Given the description of an element on the screen output the (x, y) to click on. 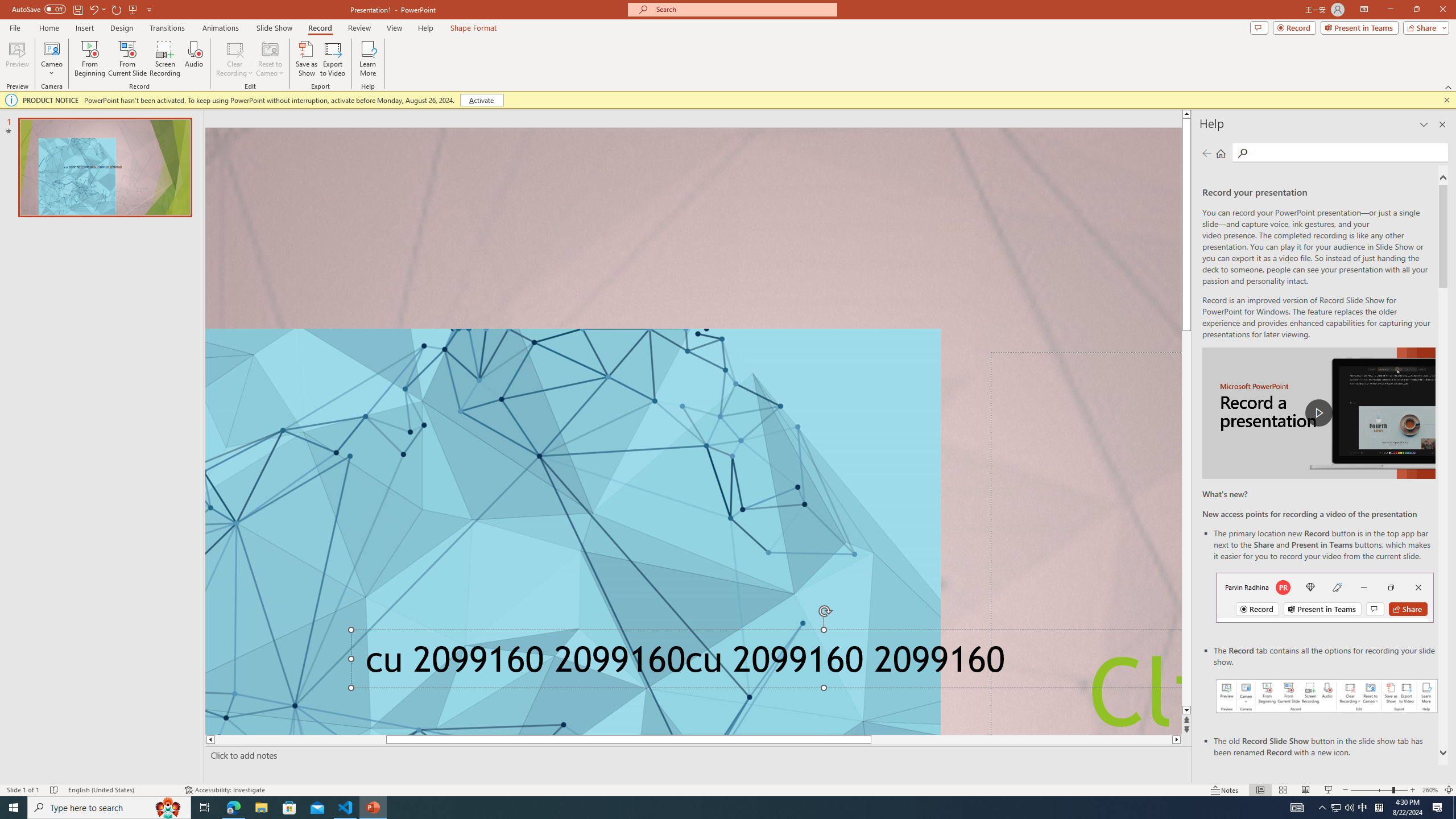
play Record a Presentation (1318, 412)
Previous page (1206, 152)
Export to Video (332, 58)
